Given the description of an element on the screen output the (x, y) to click on. 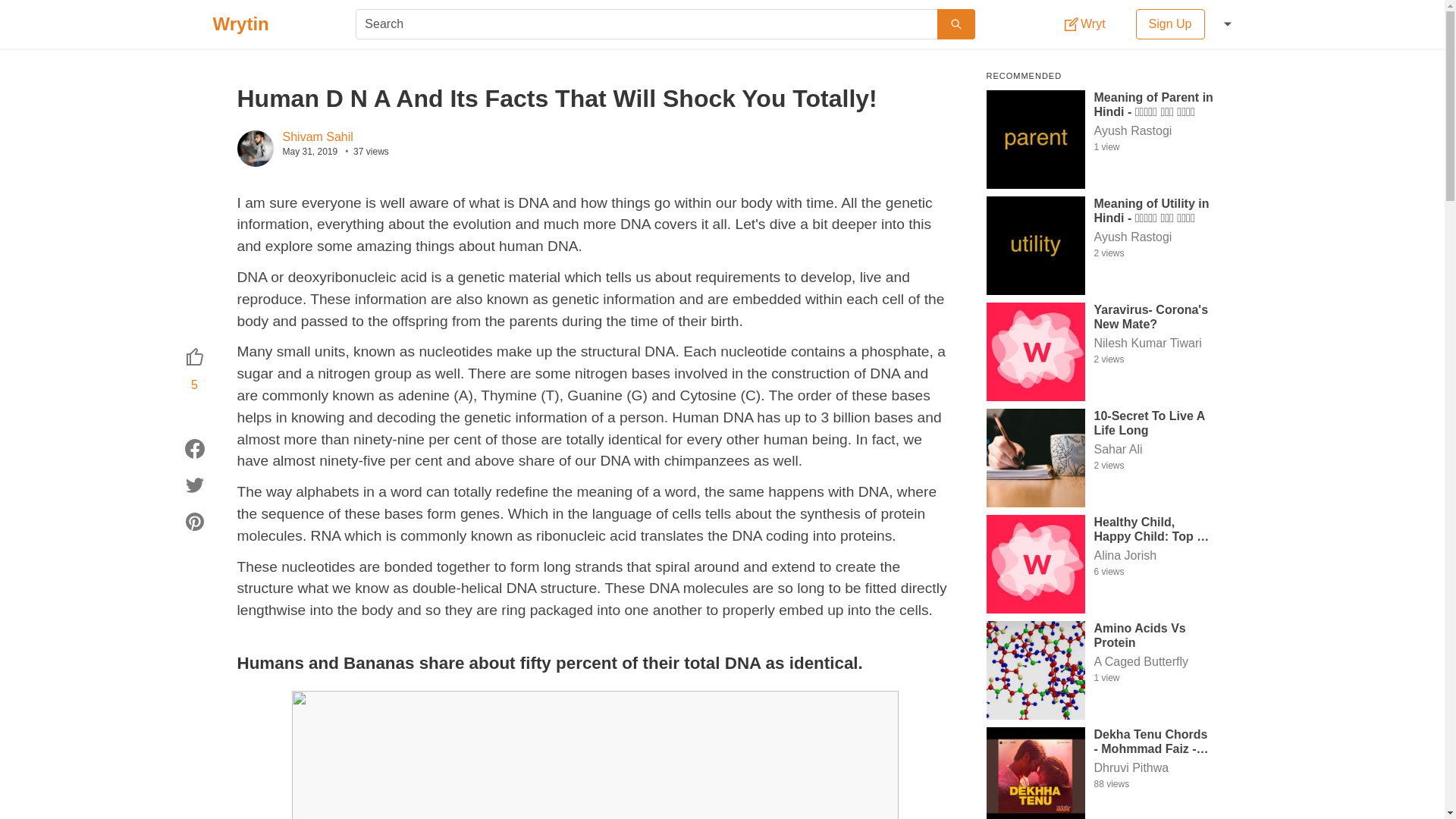
Ayush Rastogi (1152, 131)
Dhruvi Pithwa  (1152, 768)
Dhruvi Pithwa (1152, 768)
Sign Up (1170, 24)
A Caged Butterfly (1152, 661)
Amino Acids Vs Protein (1152, 634)
Ayush Rastogi (1152, 237)
Yaravirus- Corona's New Mate? (1152, 316)
Nilesh Kumar Tiwari (1152, 343)
